Given the description of an element on the screen output the (x, y) to click on. 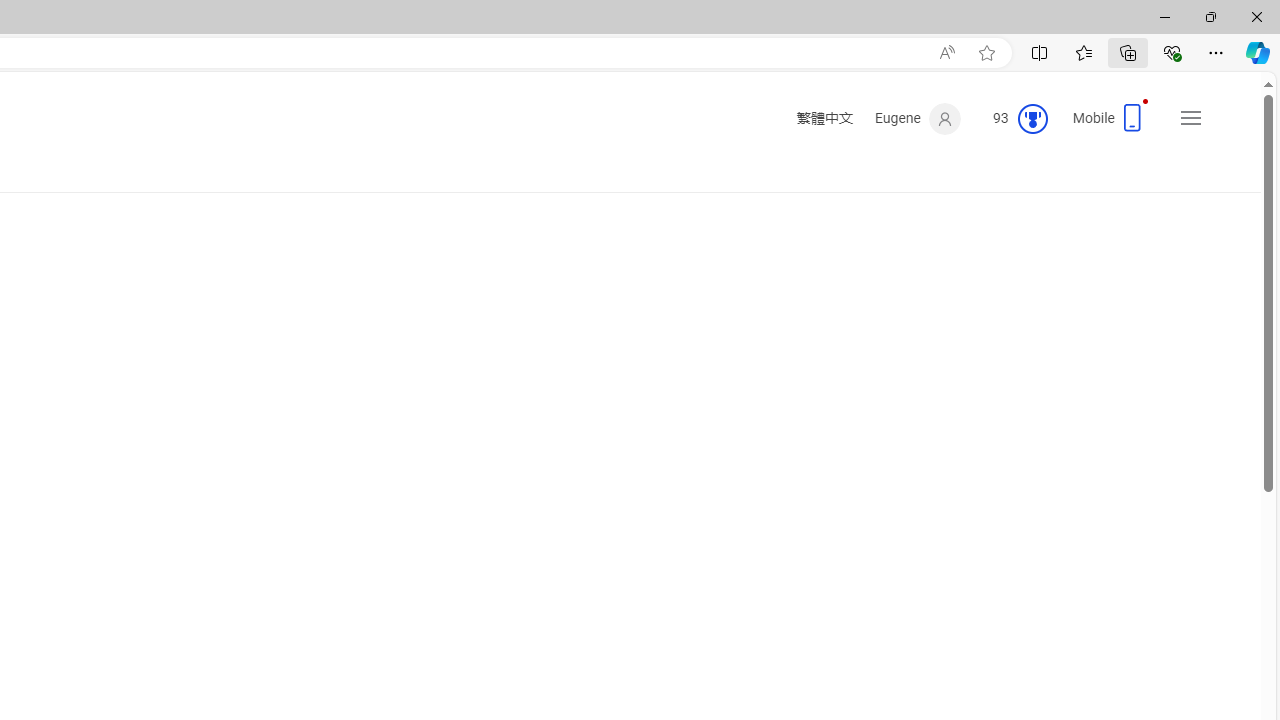
Microsoft Rewards 93 (1012, 119)
Settings and quick links (1190, 117)
Mobile (1112, 124)
Eugene (918, 119)
